Given the description of an element on the screen output the (x, y) to click on. 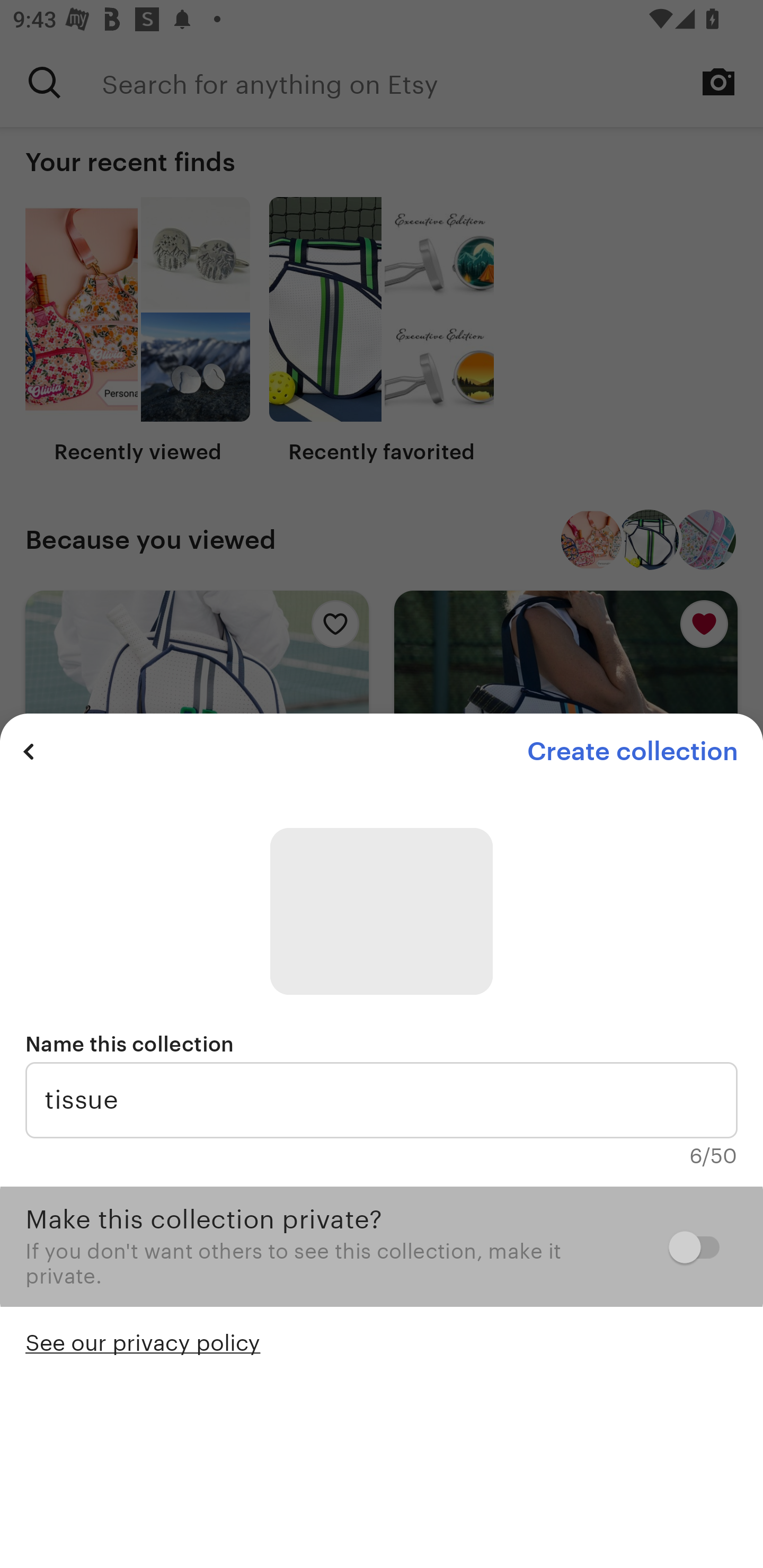
Previous (28, 751)
Create collection (632, 751)
tissue (381, 1099)
See our privacy policy (142, 1341)
